Given the description of an element on the screen output the (x, y) to click on. 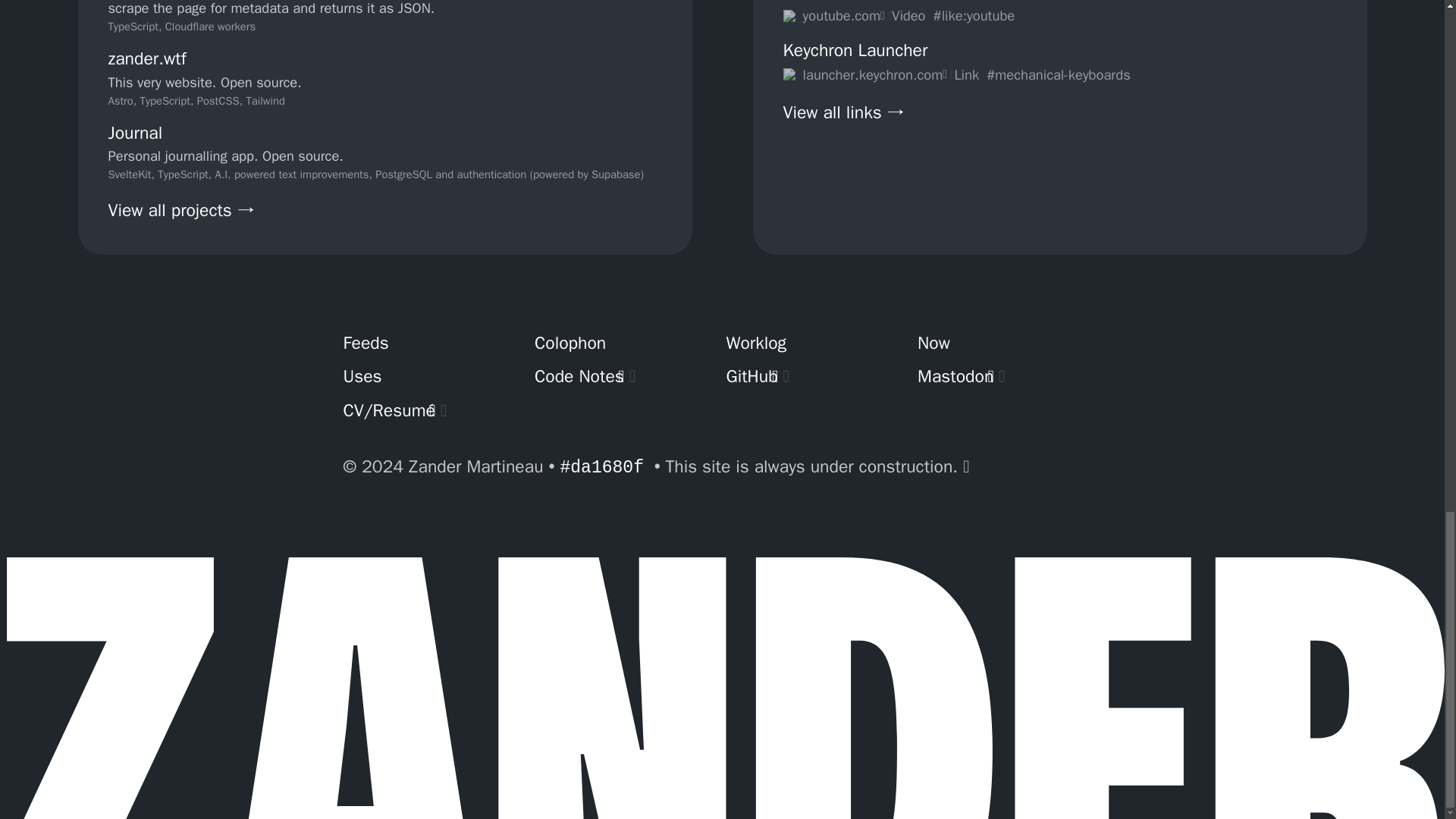
Worklog (818, 343)
GitHub (818, 376)
Uses (433, 376)
Journal (134, 133)
zander.wtf (146, 58)
Keychron Launcher (855, 50)
Colophon (625, 343)
Feeds (433, 343)
Code Notes (625, 376)
Now (1008, 343)
THE RARE FOLK (843, 1)
